Given the description of an element on the screen output the (x, y) to click on. 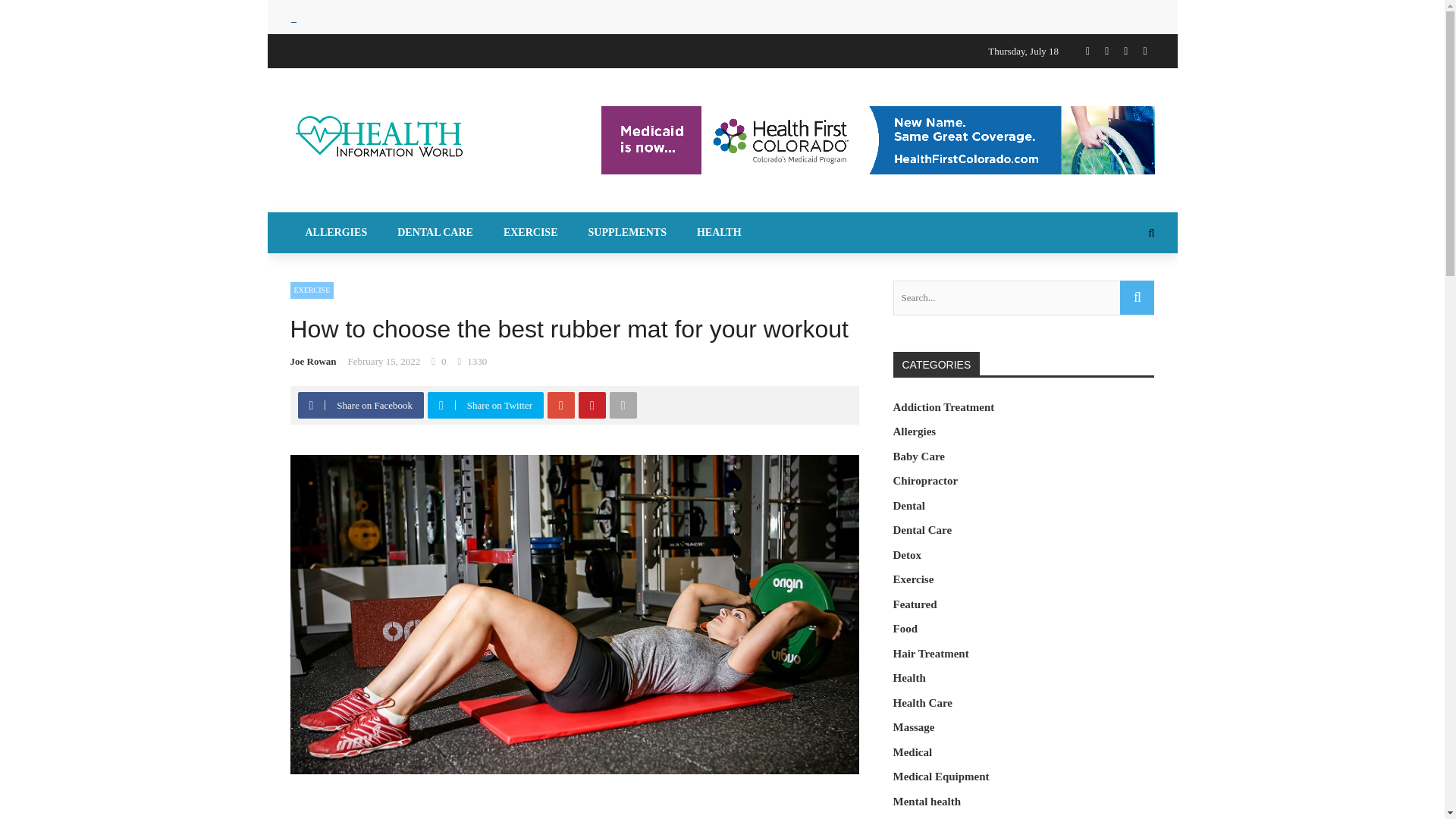
Share on Twitter (487, 405)
DENTAL CARE (434, 232)
EXERCISE (530, 232)
Joe Rowan (312, 360)
ALLERGIES (335, 232)
EXERCISE (311, 289)
Share on Facebook (361, 405)
HEALTH (719, 232)
SUPPLEMENTS (627, 232)
